Given the description of an element on the screen output the (x, y) to click on. 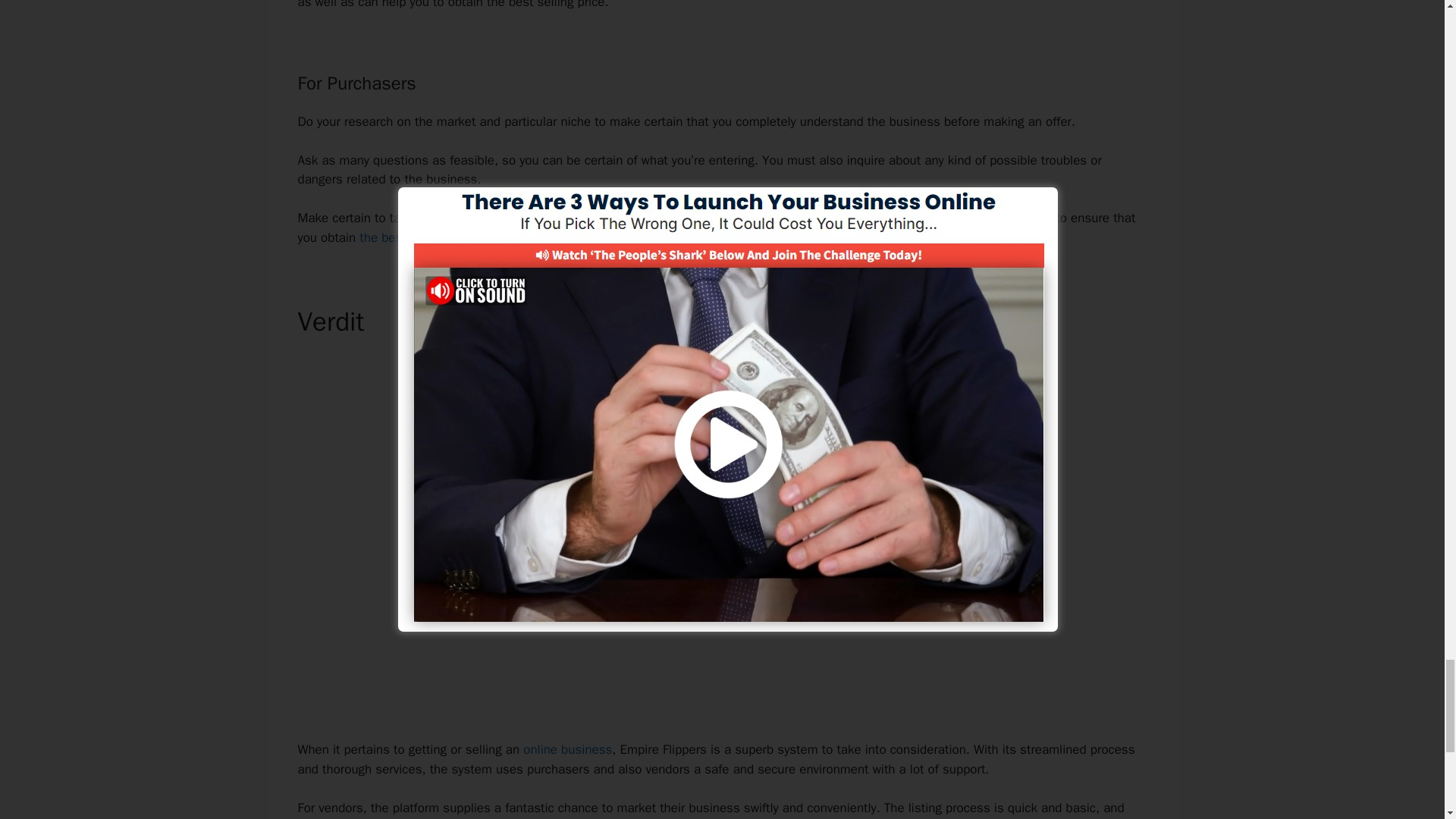
the best deal (396, 237)
online business (566, 749)
